Given the description of an element on the screen output the (x, y) to click on. 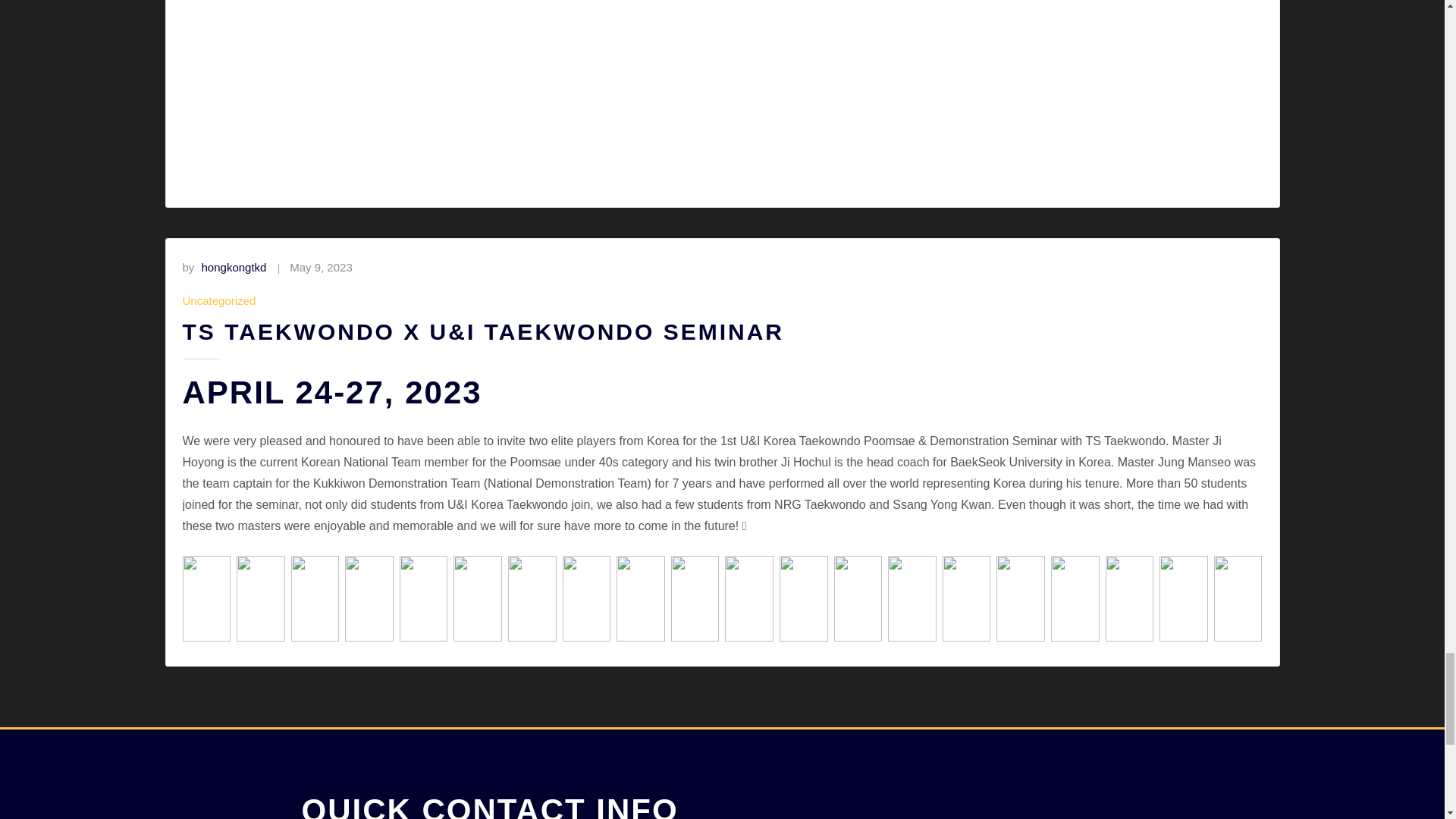
May 9, 2023 (320, 267)
Uncategorized (219, 301)
by hongkongtkd (224, 267)
